Given the description of an element on the screen output the (x, y) to click on. 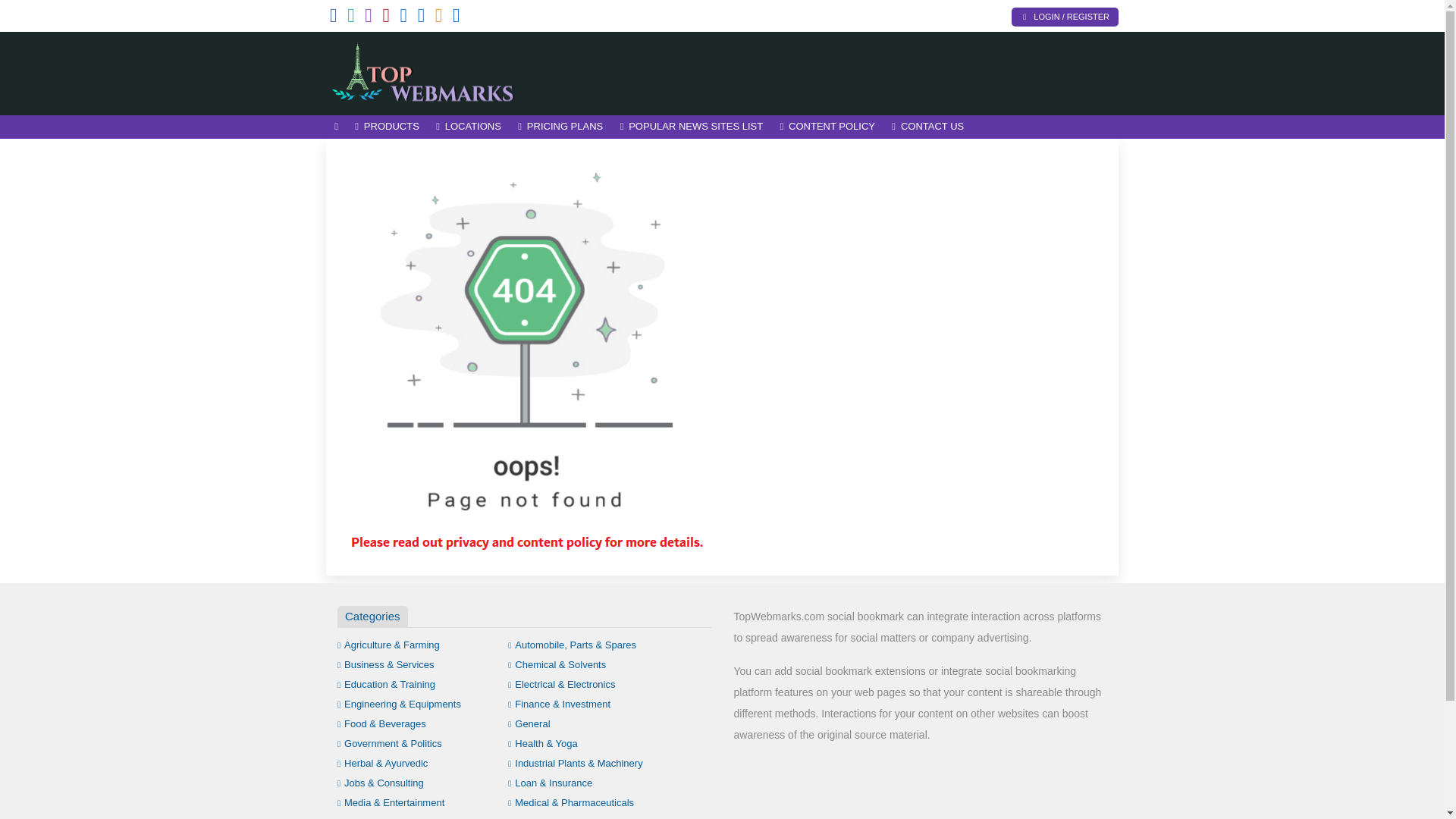
PRODUCTS (387, 126)
LOCATIONS (468, 126)
POPULAR NEWS SITES LIST (691, 126)
CONTACT US (927, 126)
General (529, 723)
CONTENT POLICY (827, 126)
PRICING PLANS (560, 126)
